Given the description of an element on the screen output the (x, y) to click on. 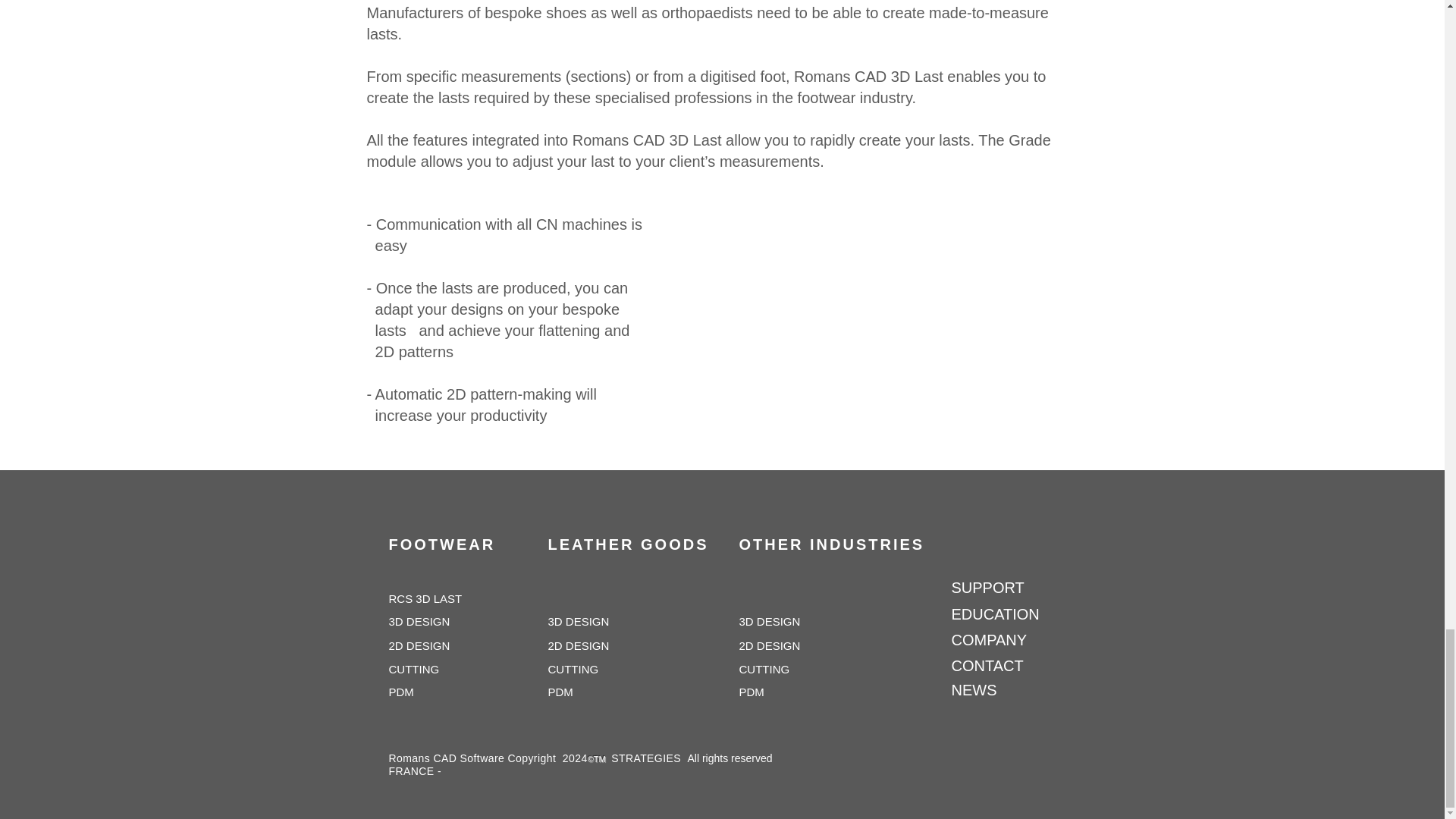
3D DESIGN (791, 621)
CUTTING (441, 669)
SUPPORT (986, 587)
PDM (791, 692)
3D DESIGN (600, 621)
PDM (441, 692)
3D DESIGN (442, 621)
2D DESIGN (600, 645)
2D DESIGN (791, 645)
PDM (600, 692)
